Given the description of an element on the screen output the (x, y) to click on. 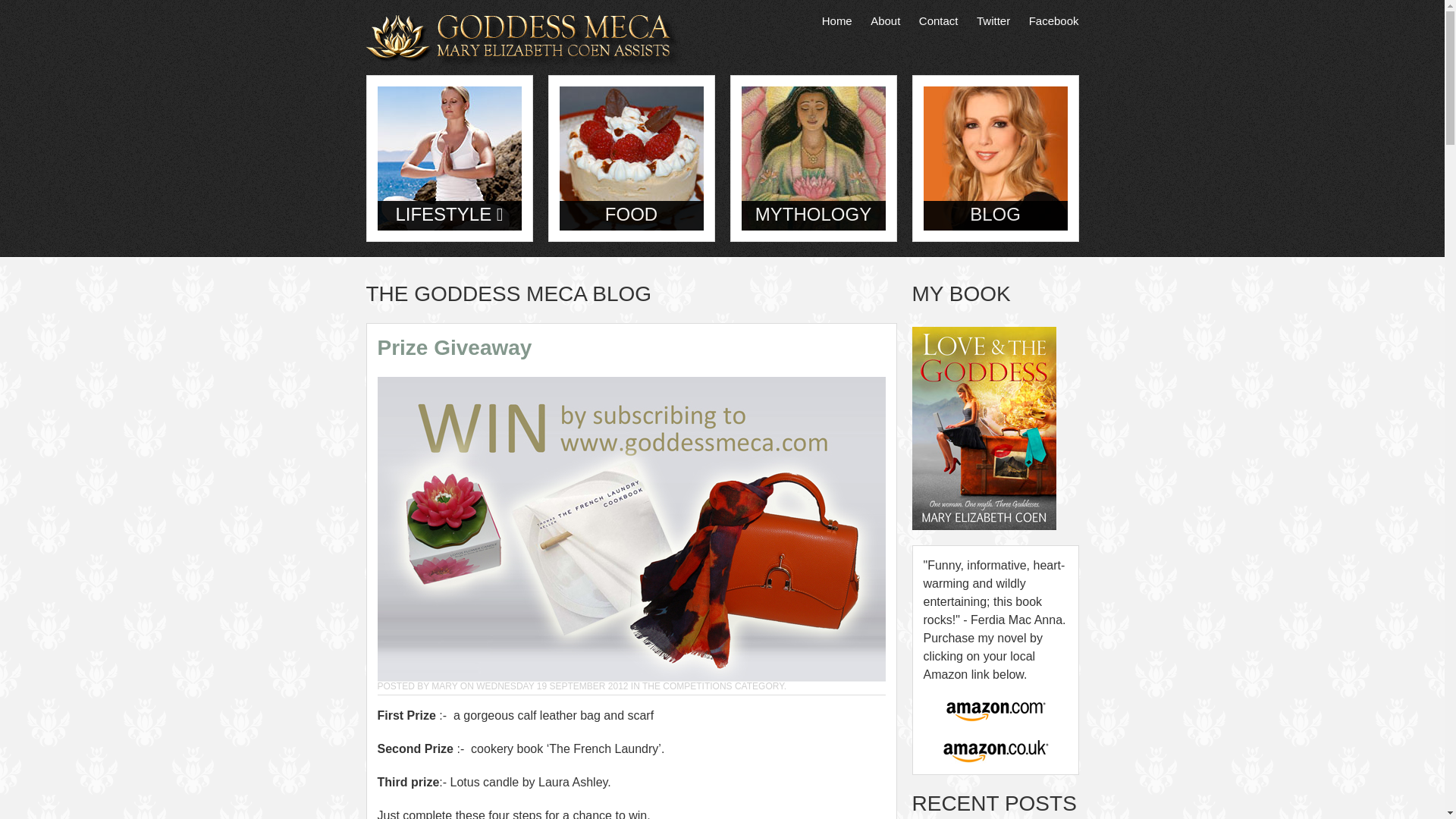
About (884, 20)
Goddess MECA (522, 40)
BLOG (994, 156)
LIFESTYLE (449, 213)
Contact (938, 20)
Blog (994, 158)
Goddess MECA (522, 41)
Facebook (1053, 20)
Twitter (993, 20)
Home (836, 20)
Mythology (812, 158)
Food (630, 158)
Fashion (448, 158)
MYTHOLOGY (812, 156)
FOOD (630, 156)
